Given the description of an element on the screen output the (x, y) to click on. 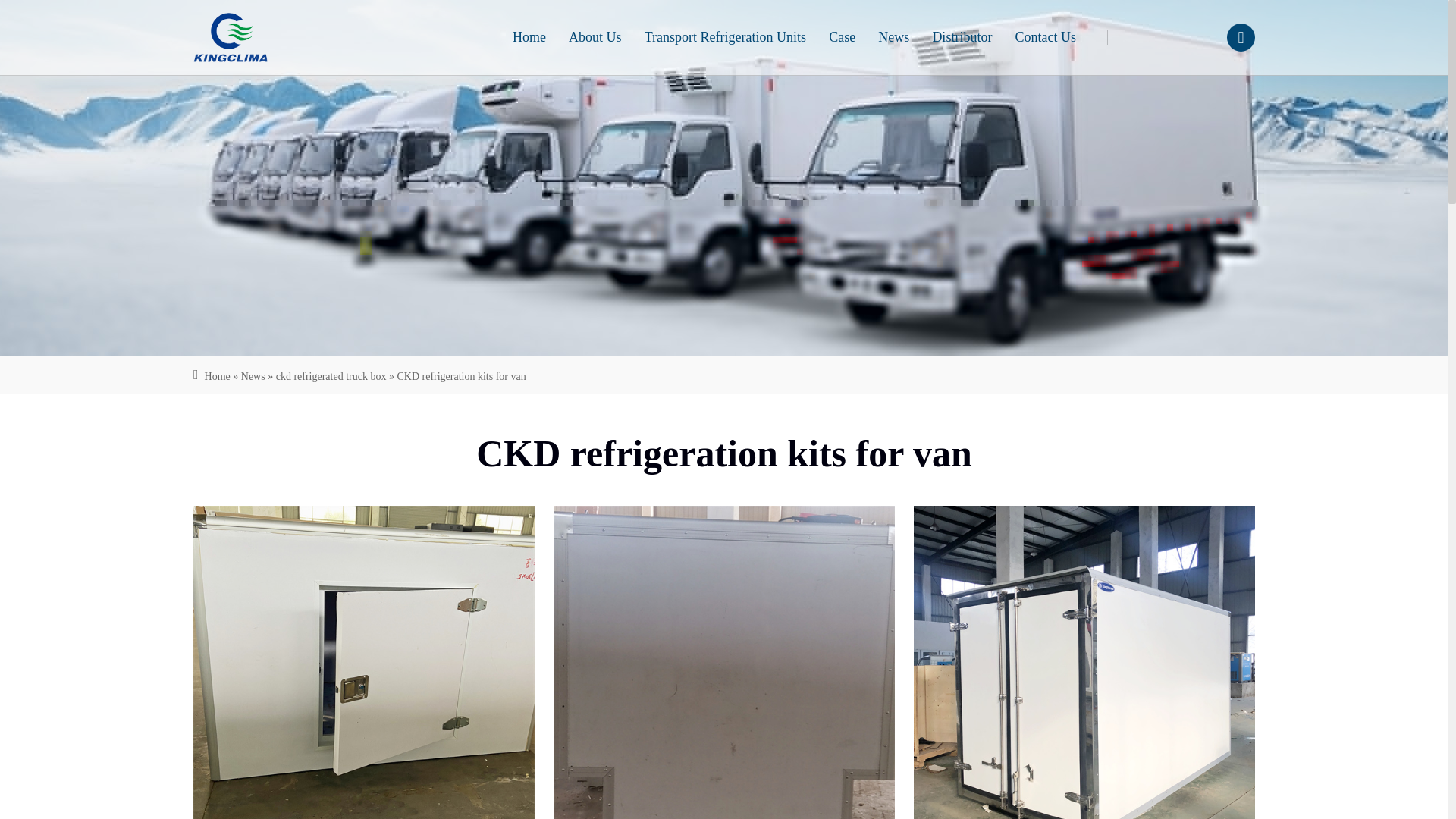
transport refrigeration units for sale (246, 37)
Contact Us (1045, 37)
News (252, 376)
Distributor (961, 37)
Transport Refrigeration Units (725, 37)
Contact Us (1045, 37)
Transport Refrigeration Units (725, 37)
transport refrigeration unit (961, 37)
